Given the description of an element on the screen output the (x, y) to click on. 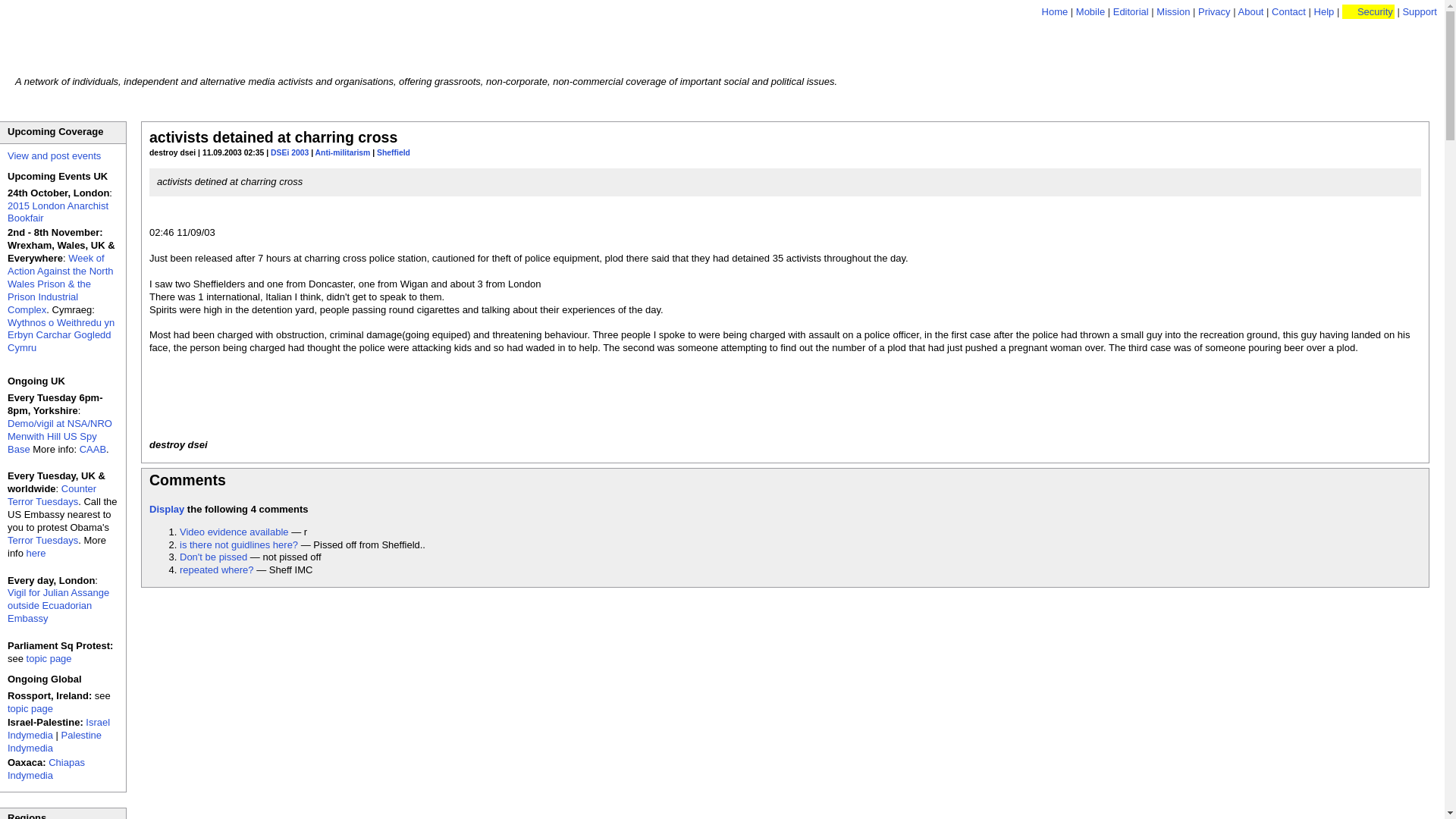
is there not guidlines here? (238, 544)
DSEi 2003 (289, 152)
Terror Tuesdays (42, 540)
activists detained at charring cross (273, 136)
UK Indymedia (144, 39)
Support (1419, 11)
Editorial (1130, 11)
Mobile (1090, 11)
Sheffield (393, 152)
About (1250, 11)
